Given the description of an element on the screen output the (x, y) to click on. 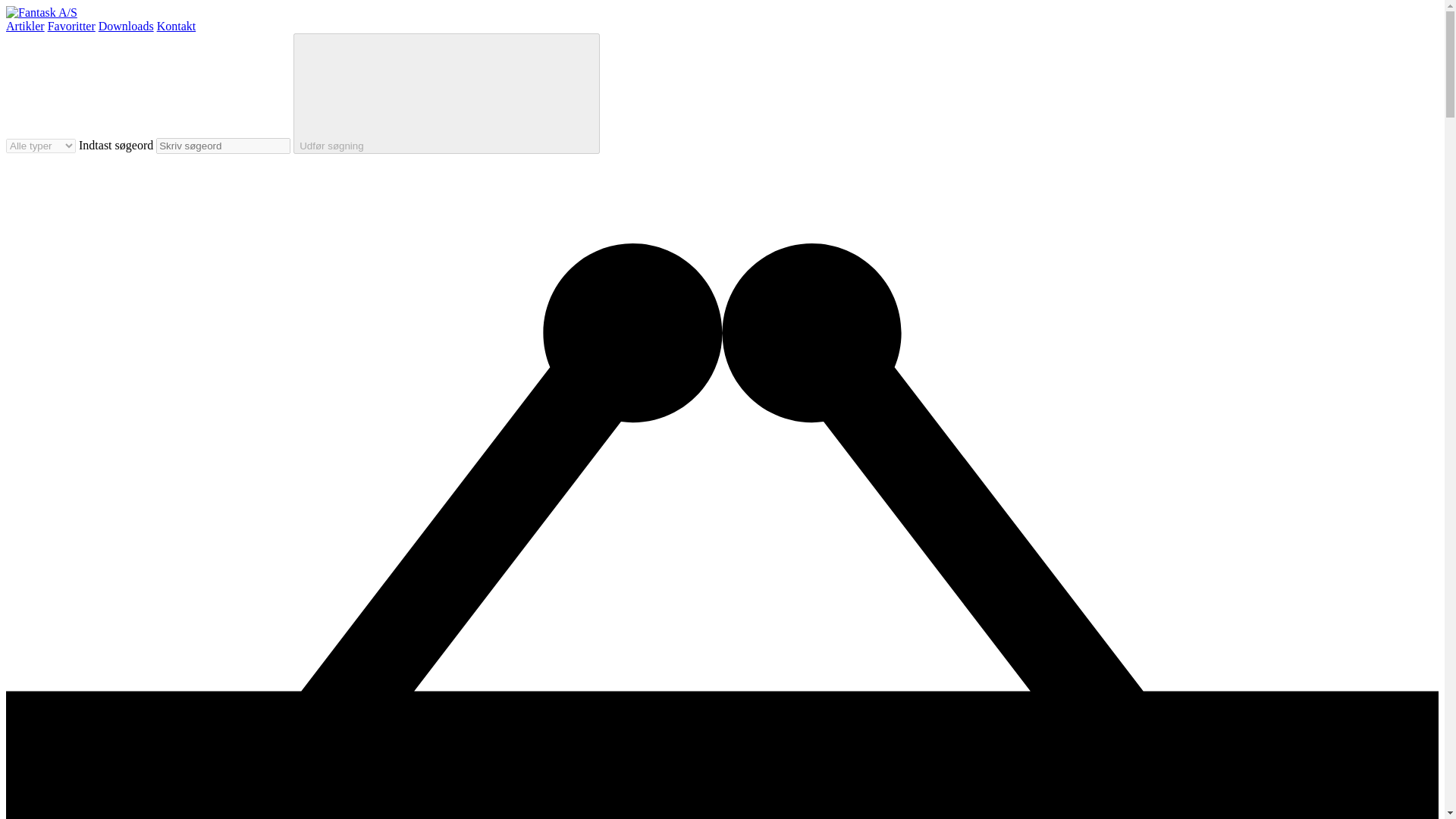
Artikler (25, 25)
Favoritter (72, 25)
Downloads (126, 25)
Kontakt (176, 25)
